Given the description of an element on the screen output the (x, y) to click on. 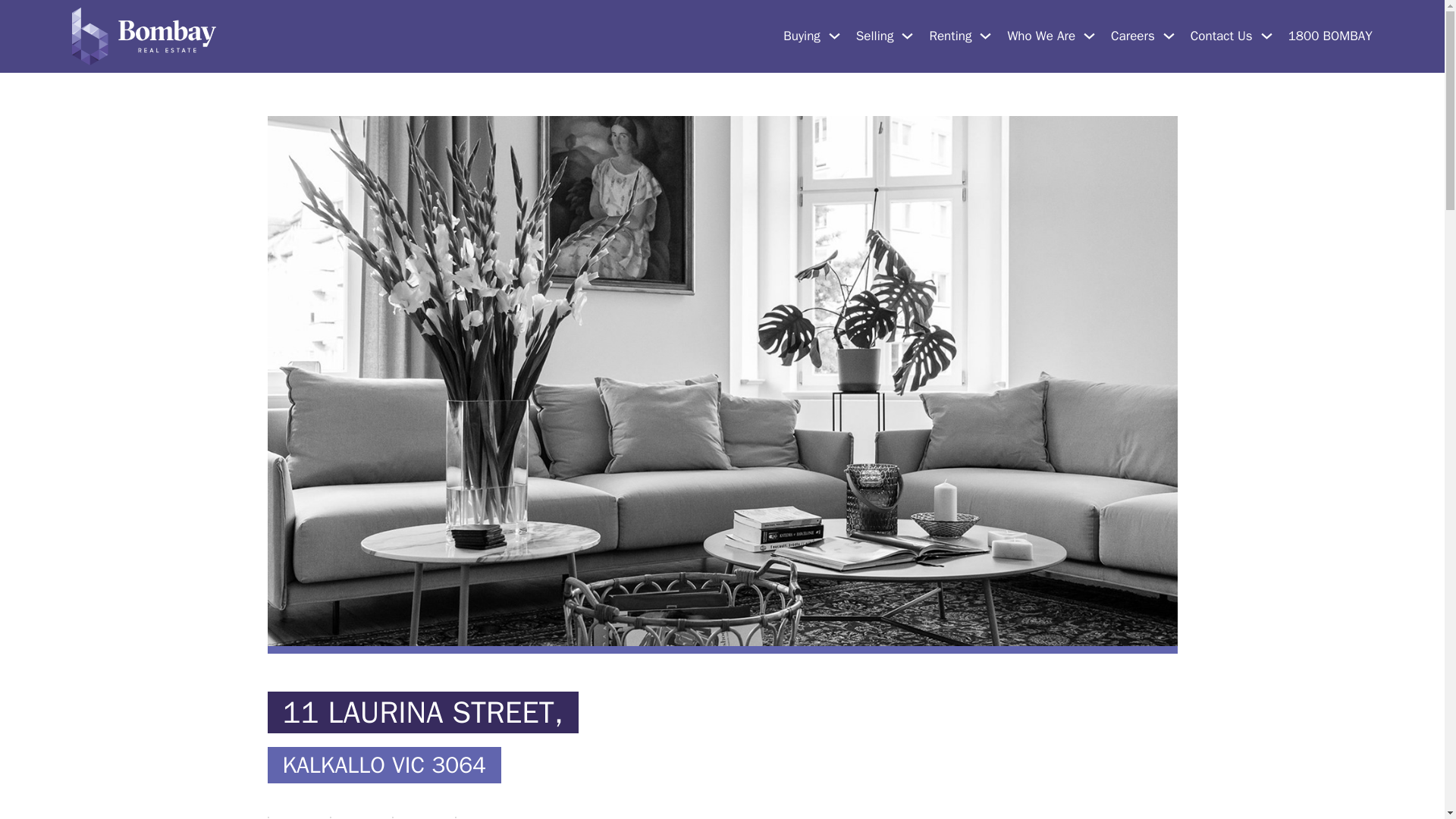
Selling (874, 36)
1800 BOMBAY (1330, 36)
Who We Are (1041, 36)
Renting (949, 36)
Careers (1132, 36)
Contact Us (1221, 36)
Buying (802, 36)
